Given the description of an element on the screen output the (x, y) to click on. 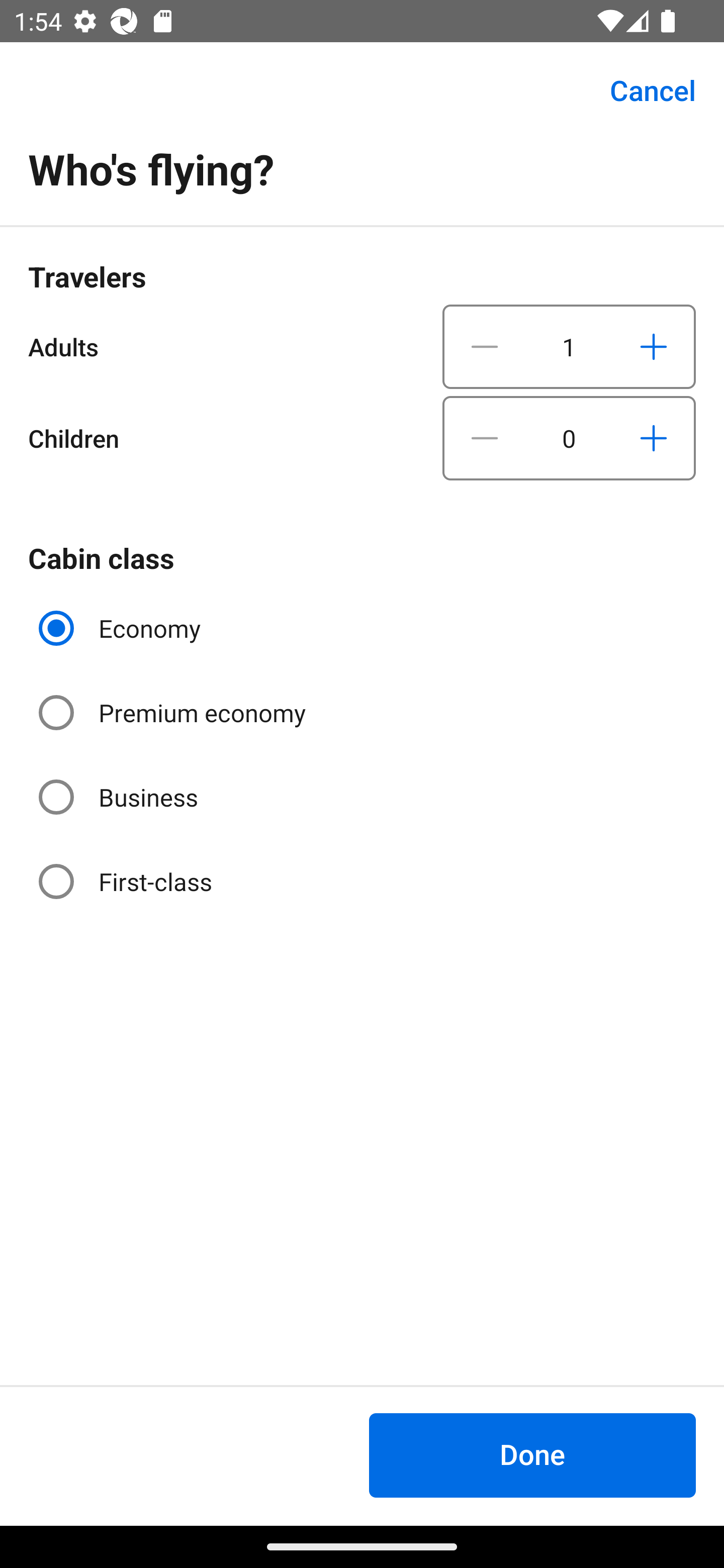
Cancel (641, 90)
Decrease (484, 346)
Increase (653, 346)
Decrease (484, 437)
Increase (653, 437)
Economy (121, 628)
Premium economy (174, 712)
Business (120, 796)
First-class (126, 880)
Done (532, 1454)
